Given the description of an element on the screen output the (x, y) to click on. 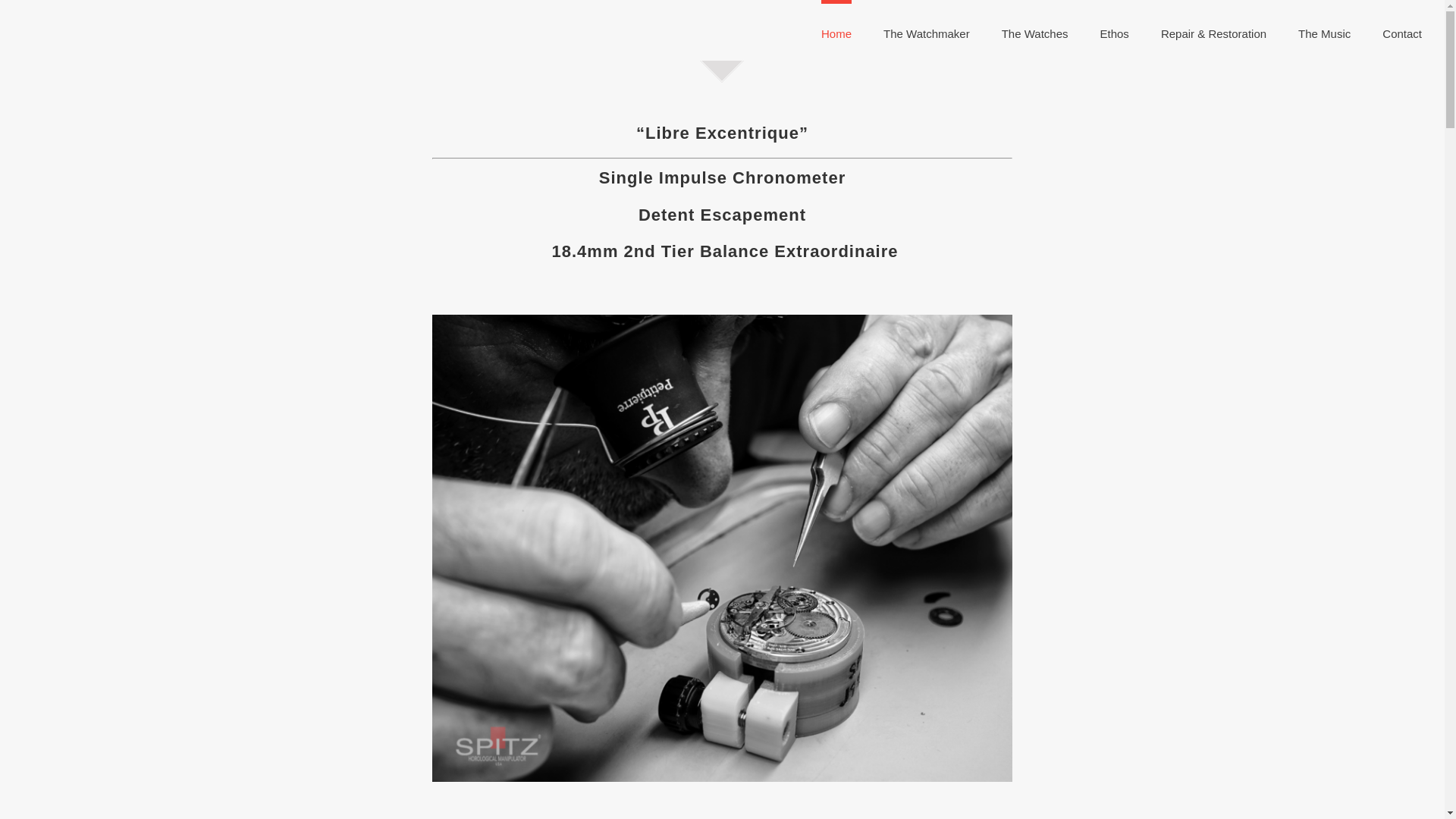
The Watchmaker (926, 31)
The Watches (1034, 31)
